Given the description of an element on the screen output the (x, y) to click on. 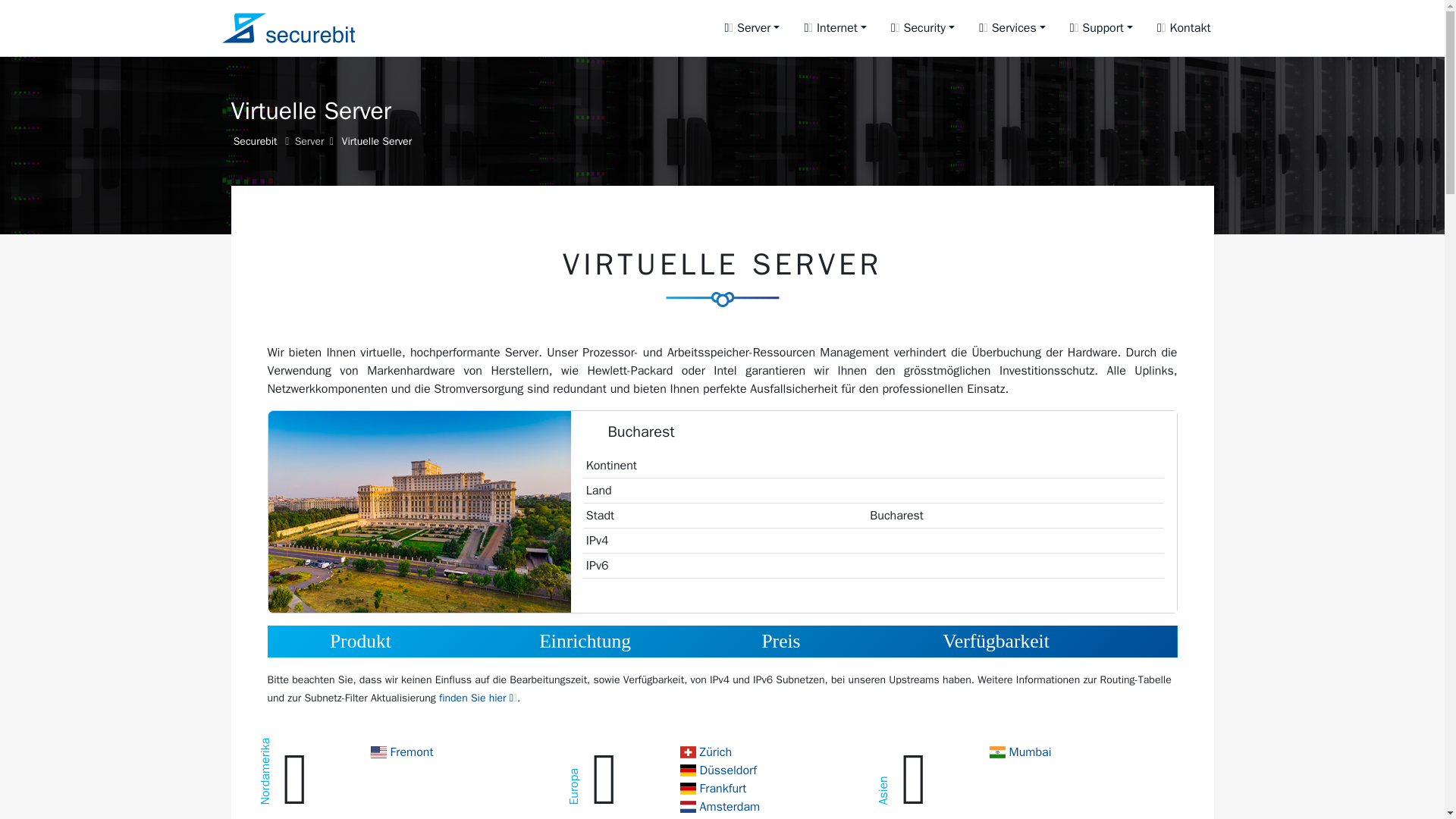
Kontakt (1183, 28)
Virtuelle Server (376, 141)
Server (751, 28)
finden Sie hier (477, 697)
Fremont (400, 752)
Bucharest (715, 818)
Internet (835, 28)
Amsterdam (719, 806)
Securebit (254, 141)
Support (1101, 28)
